Given the description of an element on the screen output the (x, y) to click on. 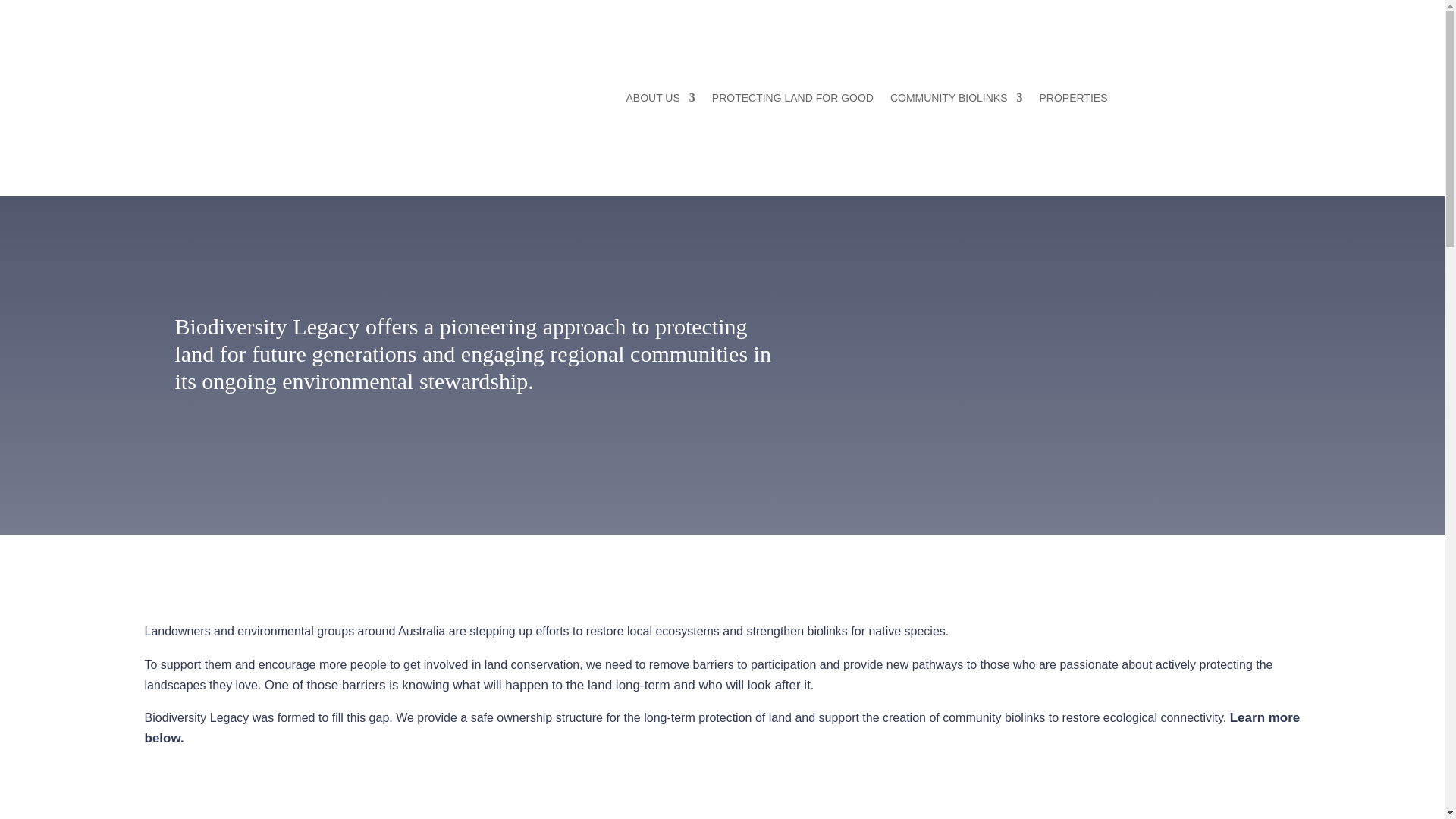
ABOUT US (660, 100)
PROPERTIES (1072, 100)
PROTECTING LAND FOR GOOD (792, 100)
COMMUNITY BIOLINKS (956, 100)
